Given the description of an element on the screen output the (x, y) to click on. 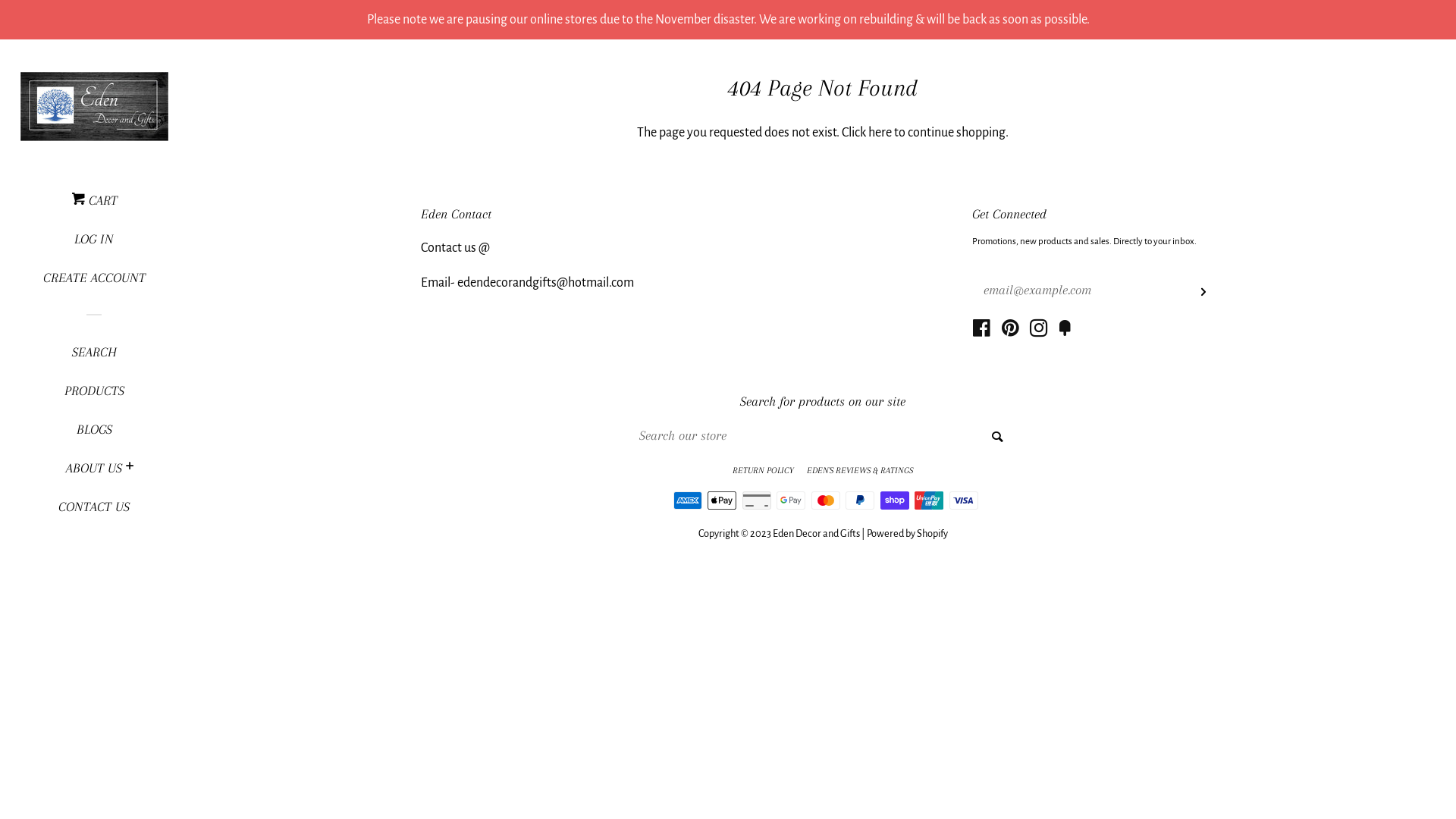
RETURN POLICY Element type: text (762, 470)
BLOGS Element type: text (93, 434)
Pinterest Element type: text (1010, 331)
CREATE ACCOUNT Element type: text (93, 282)
Search Element type: text (996, 434)
CONTACT US Element type: text (93, 511)
LOG IN Element type: text (93, 244)
Subscribe Element type: text (1203, 290)
Facebook Element type: text (981, 331)
SEARCH Element type: text (93, 357)
EDEN'S REVIEWS & RATINGS Element type: text (859, 470)
Eden Decor and Gifts Element type: text (815, 533)
PRODUCTS Element type: text (93, 395)
here Element type: text (879, 132)
ABOUT US Element type: text (93, 473)
Instagram Element type: text (1038, 331)
CART Element type: text (94, 205)
Fancy Element type: text (1064, 331)
Powered by Shopify Element type: text (906, 533)
